Given the description of an element on the screen output the (x, y) to click on. 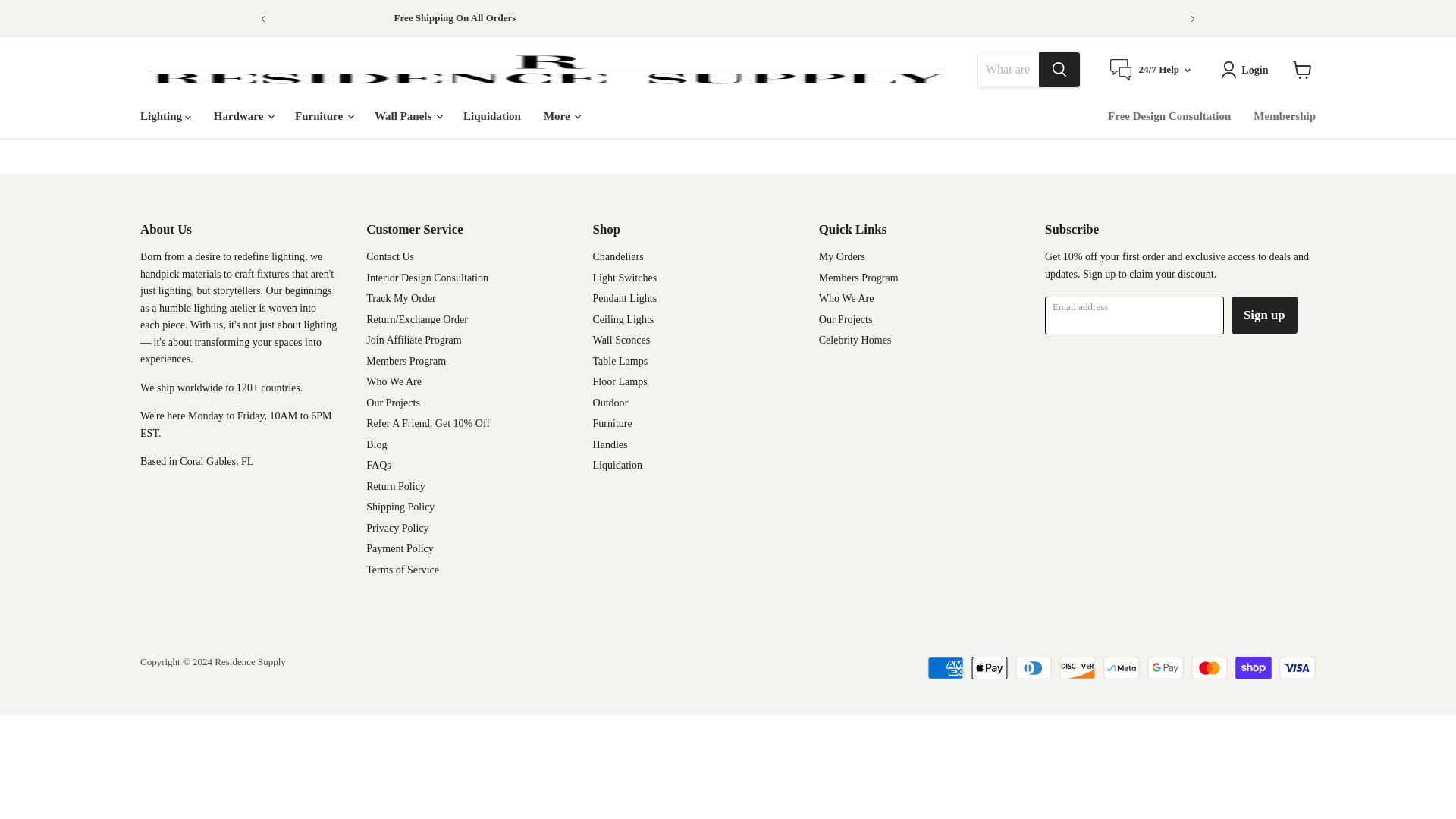
Shop Pay (1252, 667)
View cart (1302, 69)
American Express (945, 667)
Diners Club (1032, 667)
Meta Pay (1121, 667)
Apple Pay (989, 667)
Login (1247, 69)
Discover (1077, 667)
Mastercard (1209, 667)
Google Pay (1165, 667)
